Given the description of an element on the screen output the (x, y) to click on. 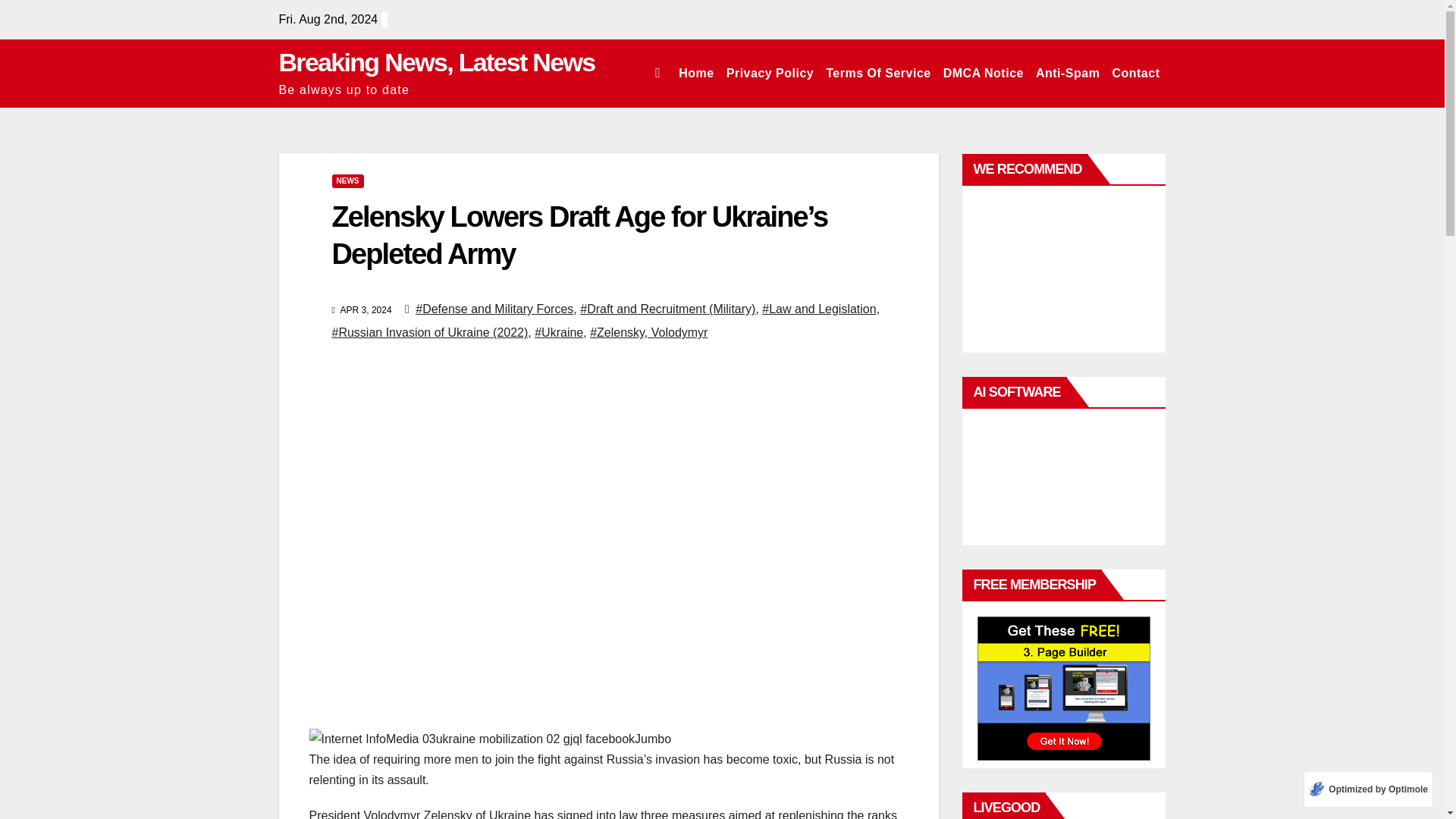
Privacy Policy (770, 73)
Privacy Policy (770, 73)
NEWS (347, 181)
DMCA Notice (983, 73)
Terms of Service (877, 73)
Anti-Spam (1067, 73)
Anti-Spam (1067, 73)
Terms Of Service (877, 73)
DMCA Notice (983, 73)
Breaking News, Latest News (437, 61)
